Given the description of an element on the screen output the (x, y) to click on. 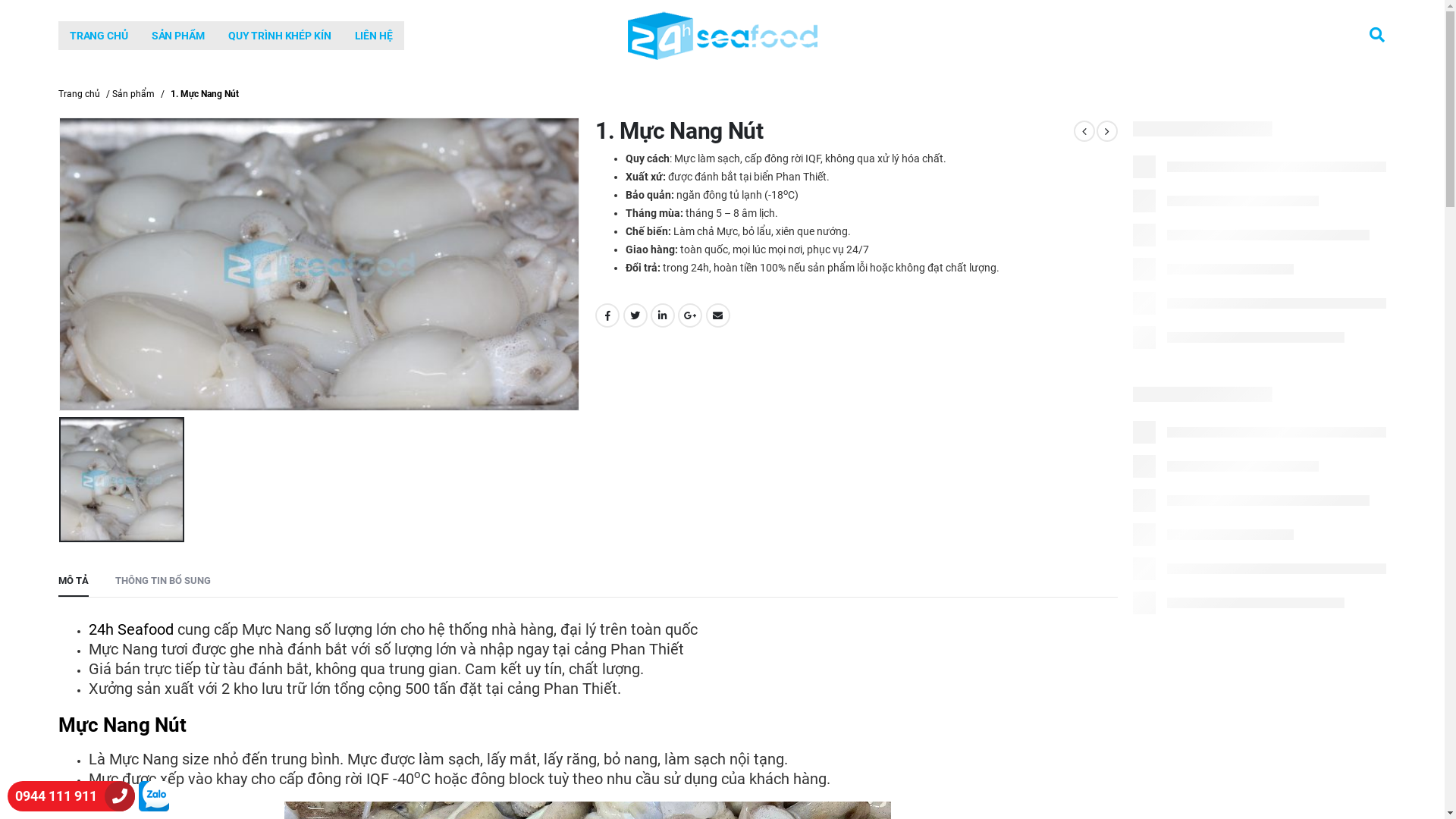
Facebook Element type: text (607, 315)
Email Element type: text (718, 315)
LinkedIn Element type: text (662, 315)
Twitter Element type: text (635, 315)
0944 111 911 Element type: text (52, 795)
IMG_8274 Element type: hover (319, 263)
Google + Element type: text (689, 315)
